Given the description of an element on the screen output the (x, y) to click on. 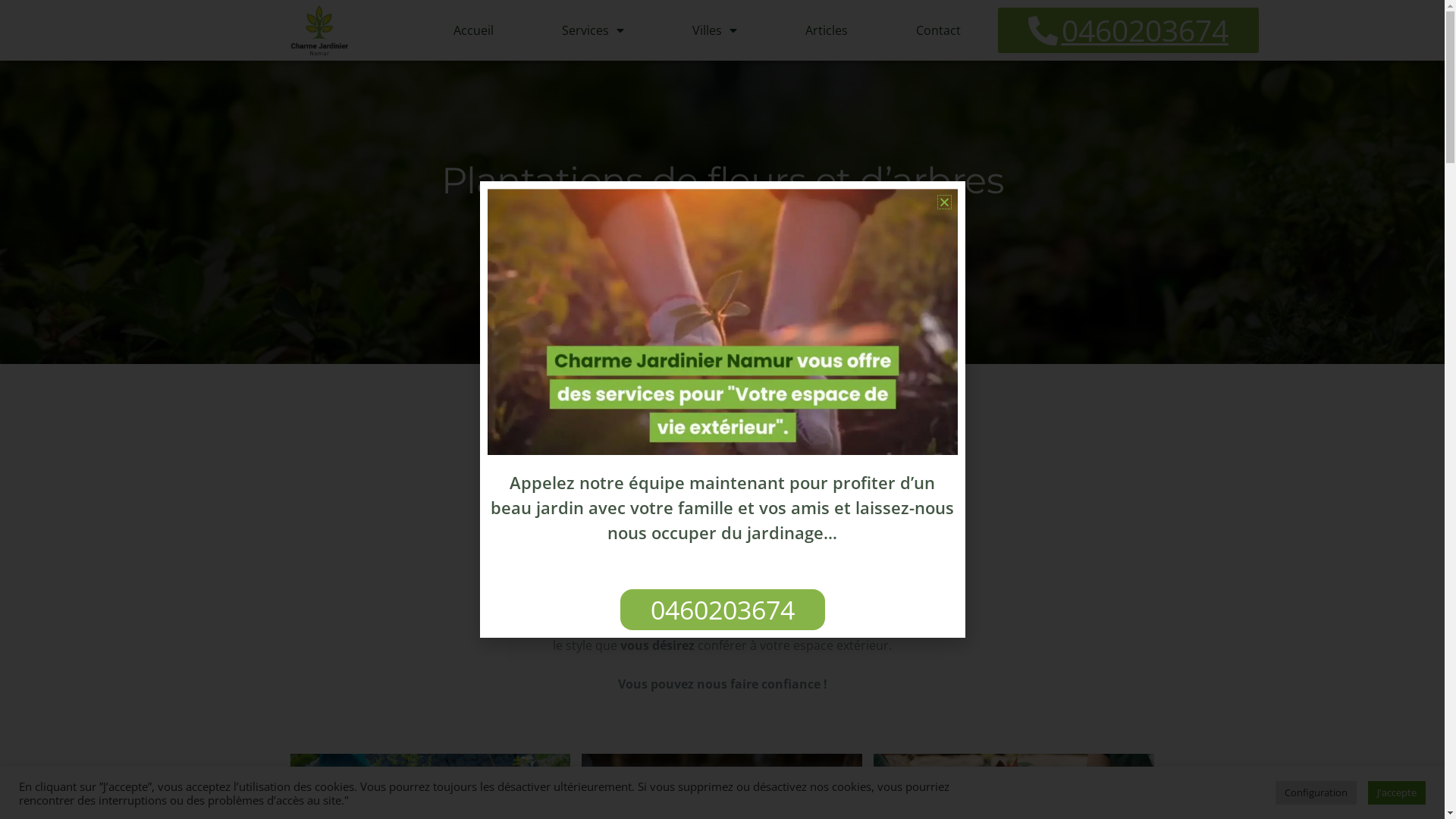
0460203674 Element type: text (1127, 30)
Articles Element type: text (826, 29)
0460203674 Element type: text (722, 609)
Villes Element type: text (714, 29)
Accueil Element type: text (473, 29)
Contact Element type: text (937, 29)
Configuration Element type: text (1315, 792)
J'accepte Element type: text (1396, 792)
Services Element type: text (592, 29)
